Given the description of an element on the screen output the (x, y) to click on. 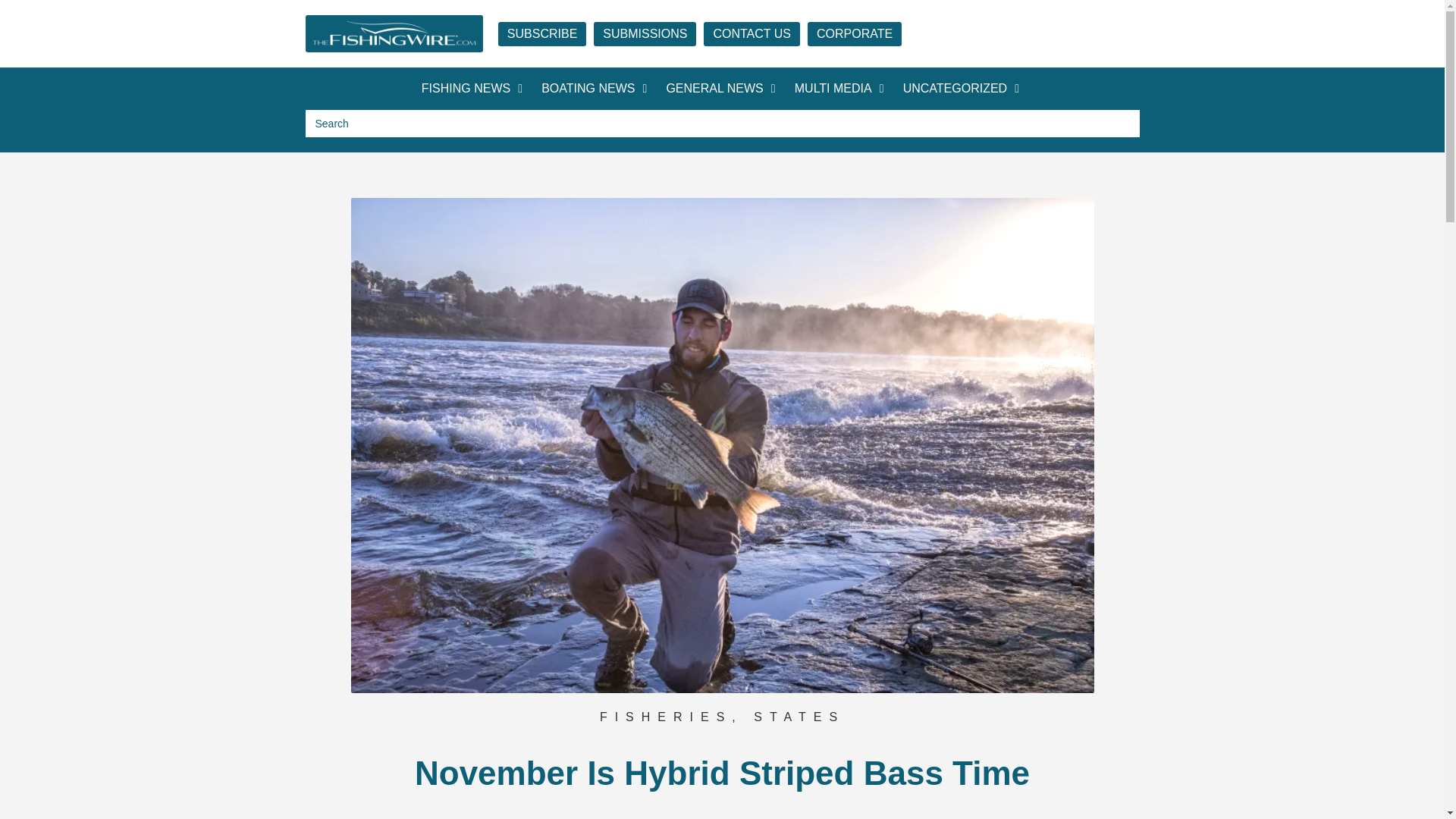
SUBMISSIONS (644, 33)
CONTACT US (751, 33)
CORPORATE (854, 33)
BOATING NEWS (587, 88)
FISHING NEWS (466, 88)
SUBSCRIBE (541, 33)
